Given the description of an element on the screen output the (x, y) to click on. 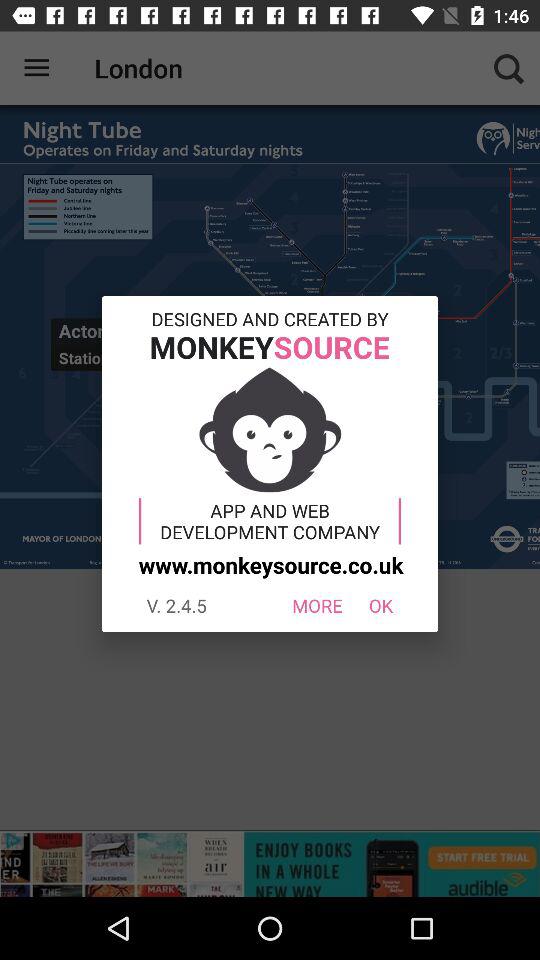
open www monkeysource co item (268, 564)
